Given the description of an element on the screen output the (x, y) to click on. 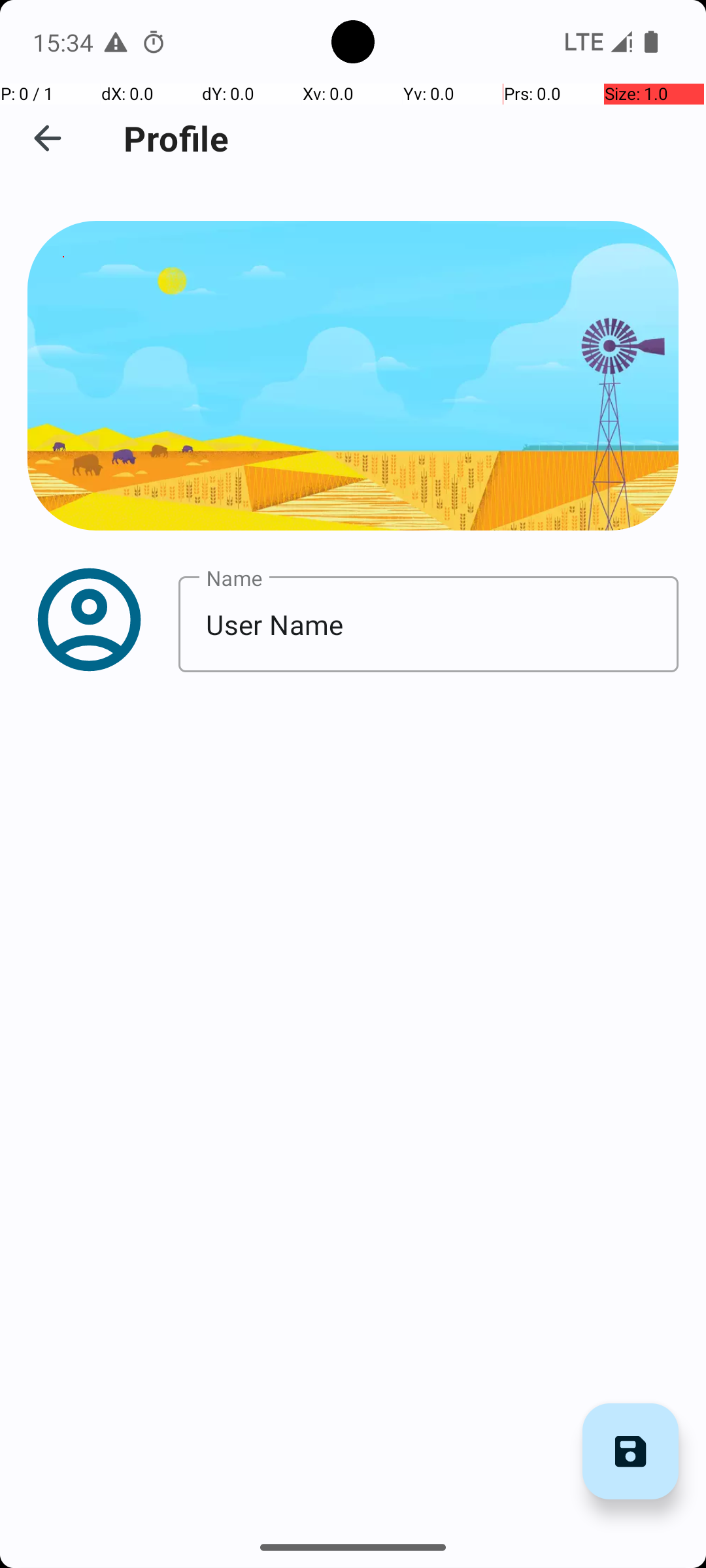
Profile Element type: android.widget.TextView (176, 137)
User Name Element type: android.widget.EditText (428, 624)
